Given the description of an element on the screen output the (x, y) to click on. 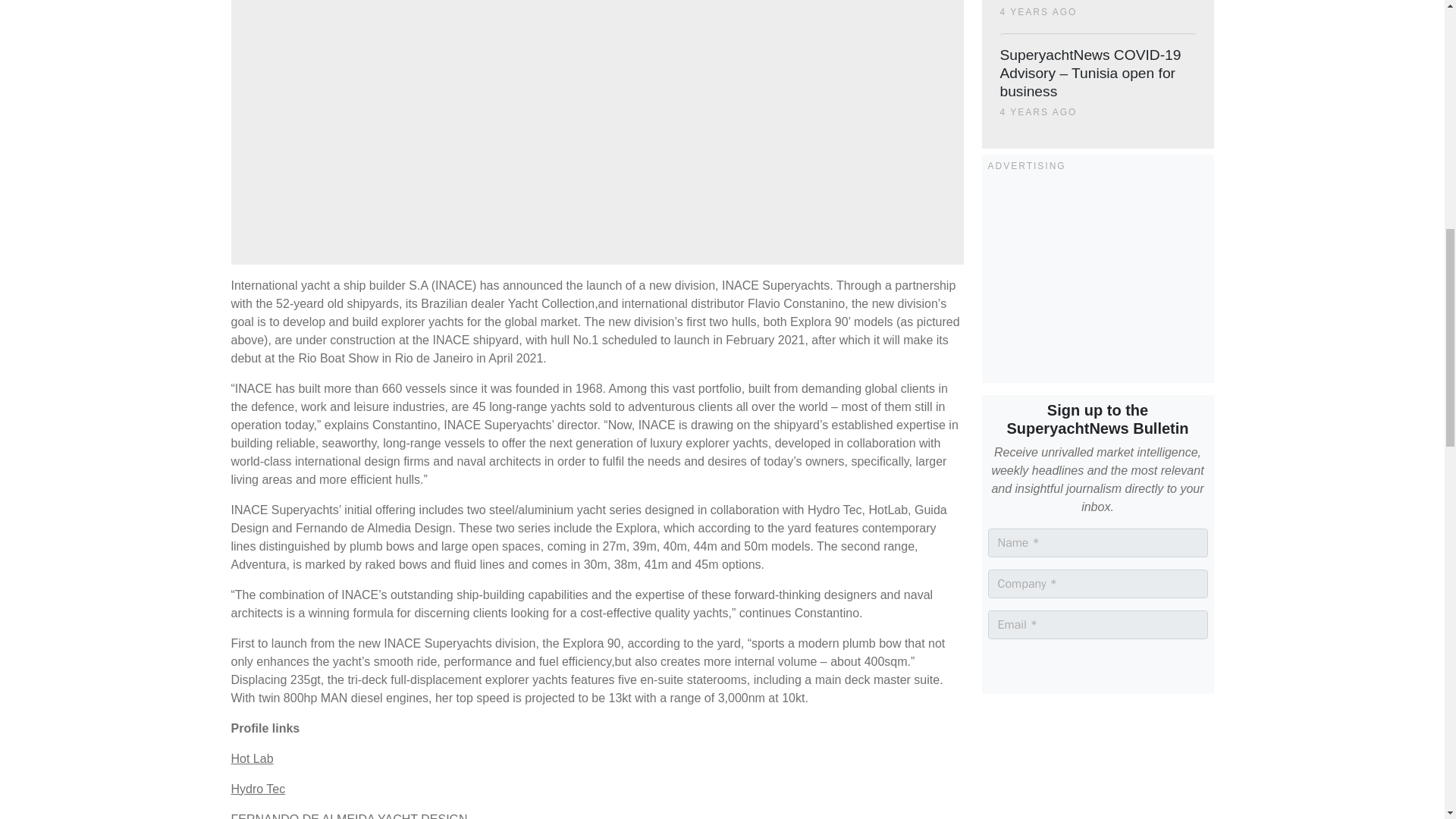
Hot Lab (251, 758)
Hydro Tec (257, 788)
FERNANDO DE ALMEIDA YACHT DESIGN (348, 816)
